Given the description of an element on the screen output the (x, y) to click on. 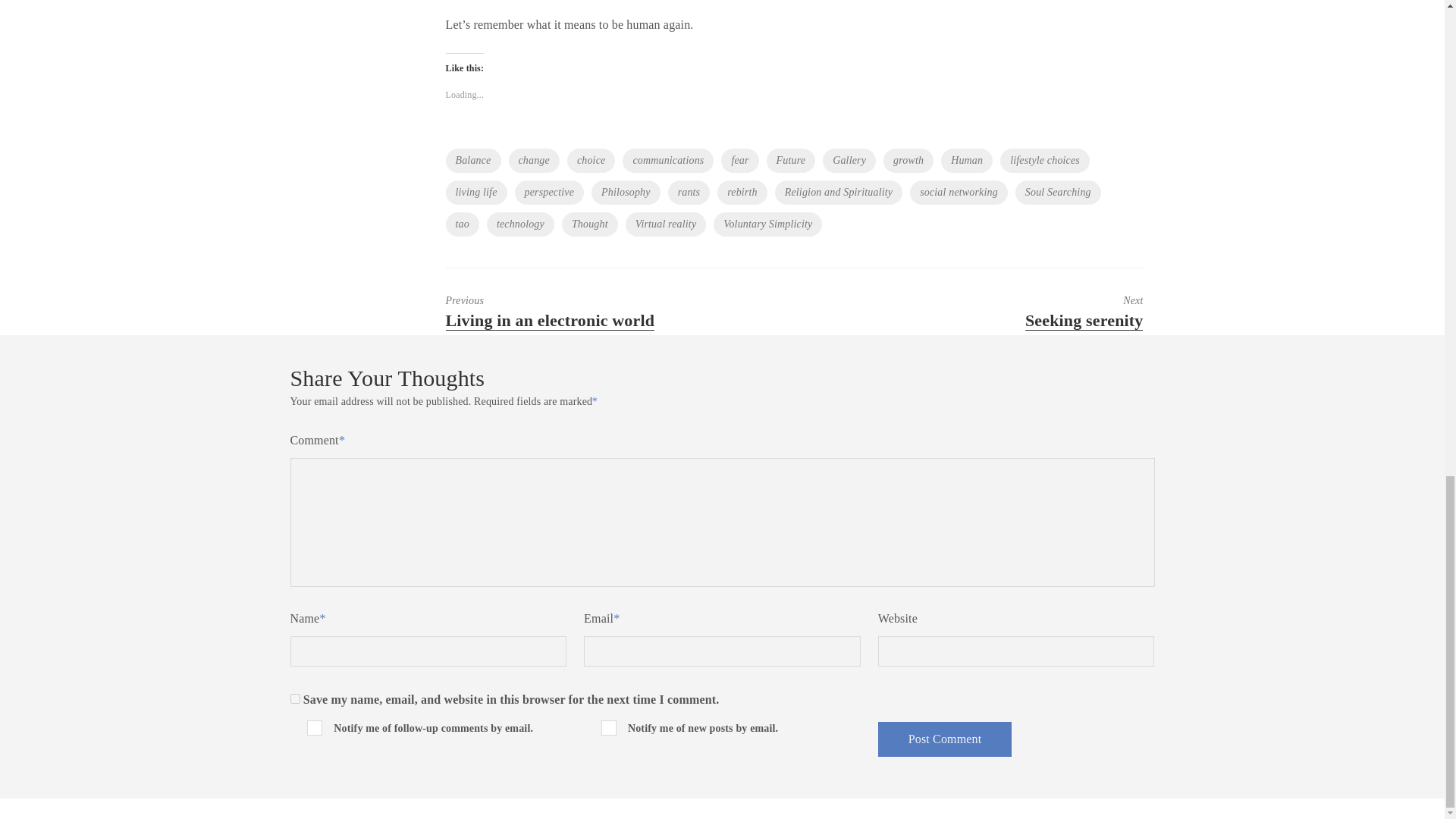
change (533, 160)
Gallery (849, 160)
perspective (550, 192)
Religion and Spirituality (838, 192)
growth (908, 160)
Balance (472, 160)
Philosophy (626, 192)
Human (966, 160)
fear (739, 160)
